Given the description of an element on the screen output the (x, y) to click on. 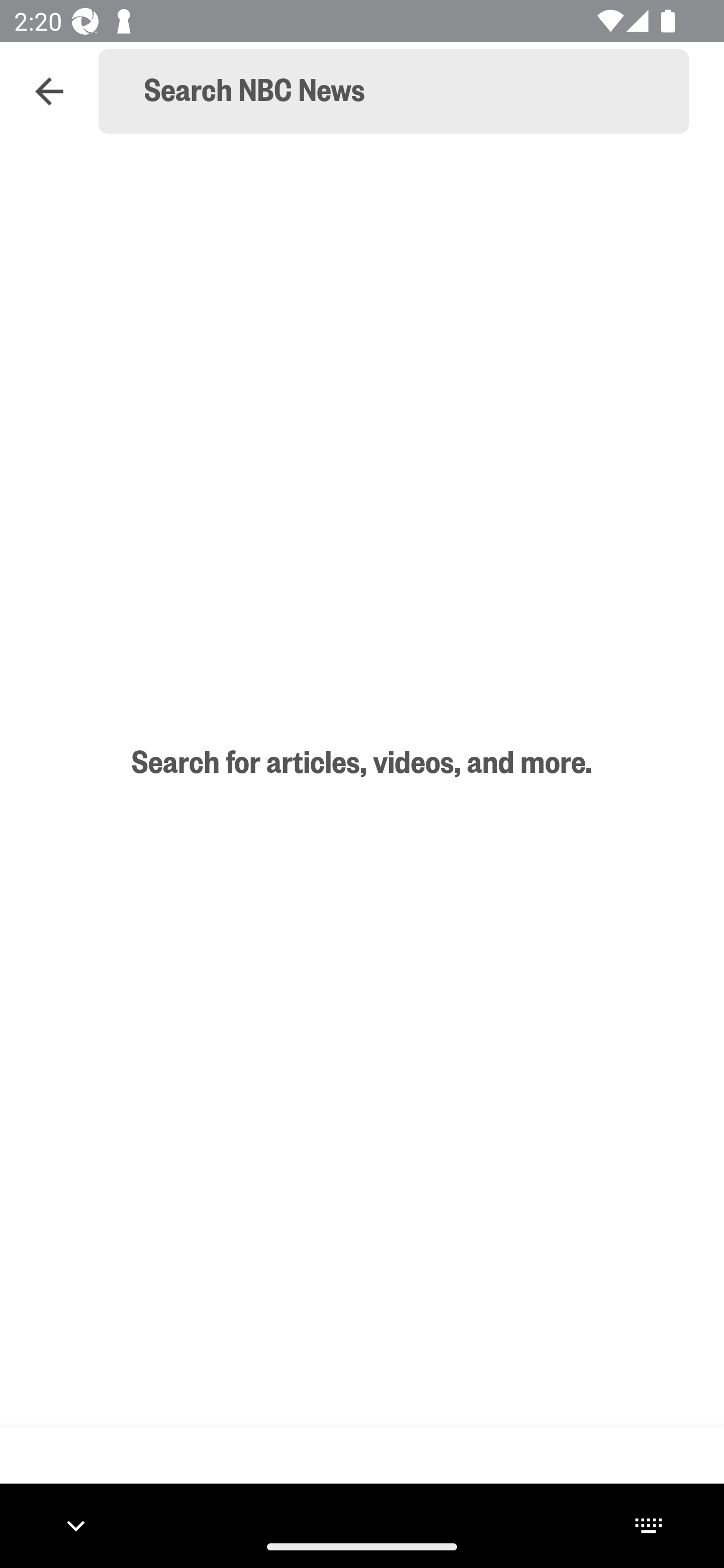
Navigate up (49, 91)
Search NBC News (402, 91)
